Given the description of an element on the screen output the (x, y) to click on. 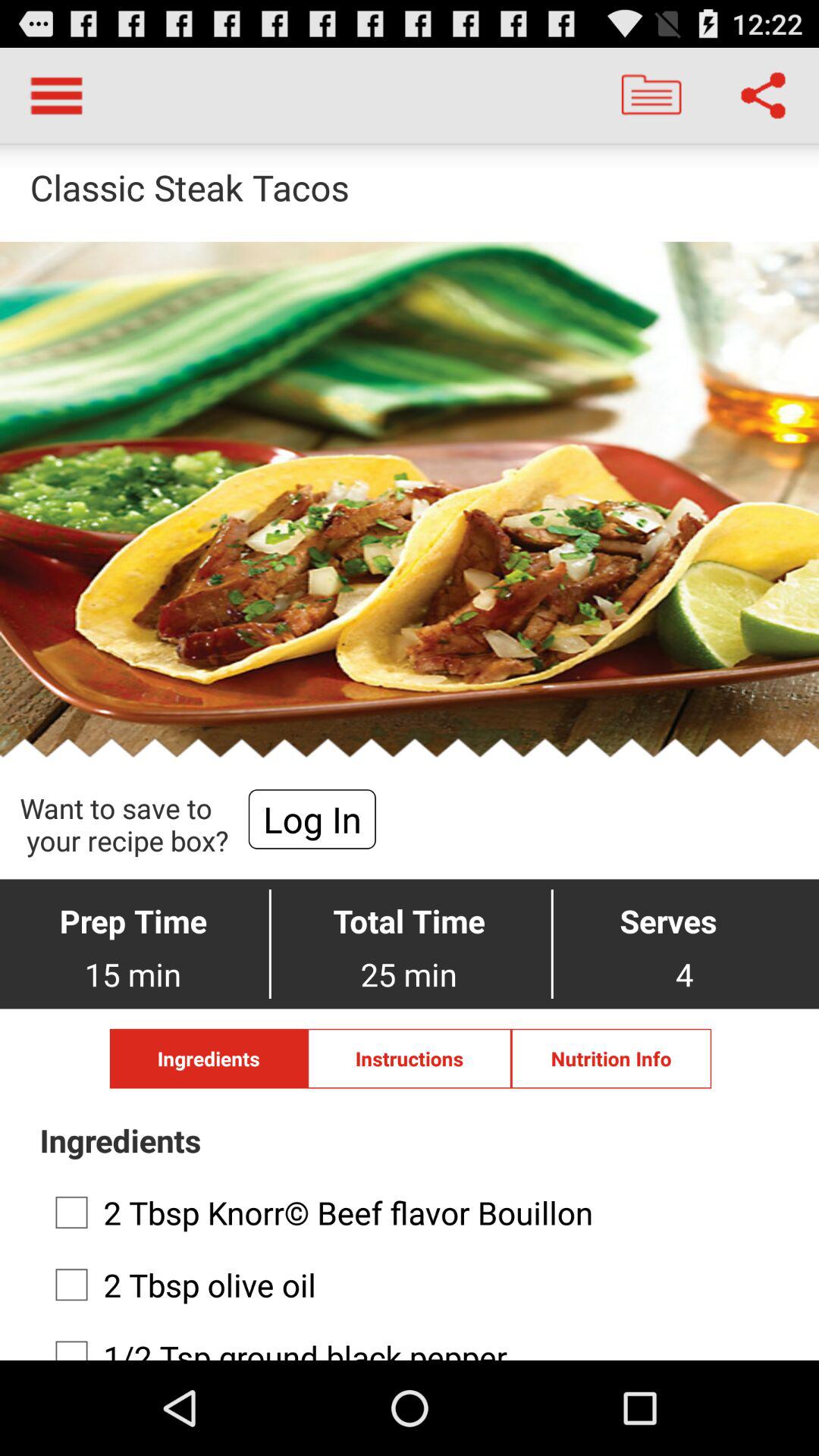
select text instructions (409, 1059)
click share icon (763, 95)
click on text which is left to instructions (208, 1059)
select the box on top left corner of the page (56, 95)
click the nutrition info option beside instructions option (611, 1059)
